Given the description of an element on the screen output the (x, y) to click on. 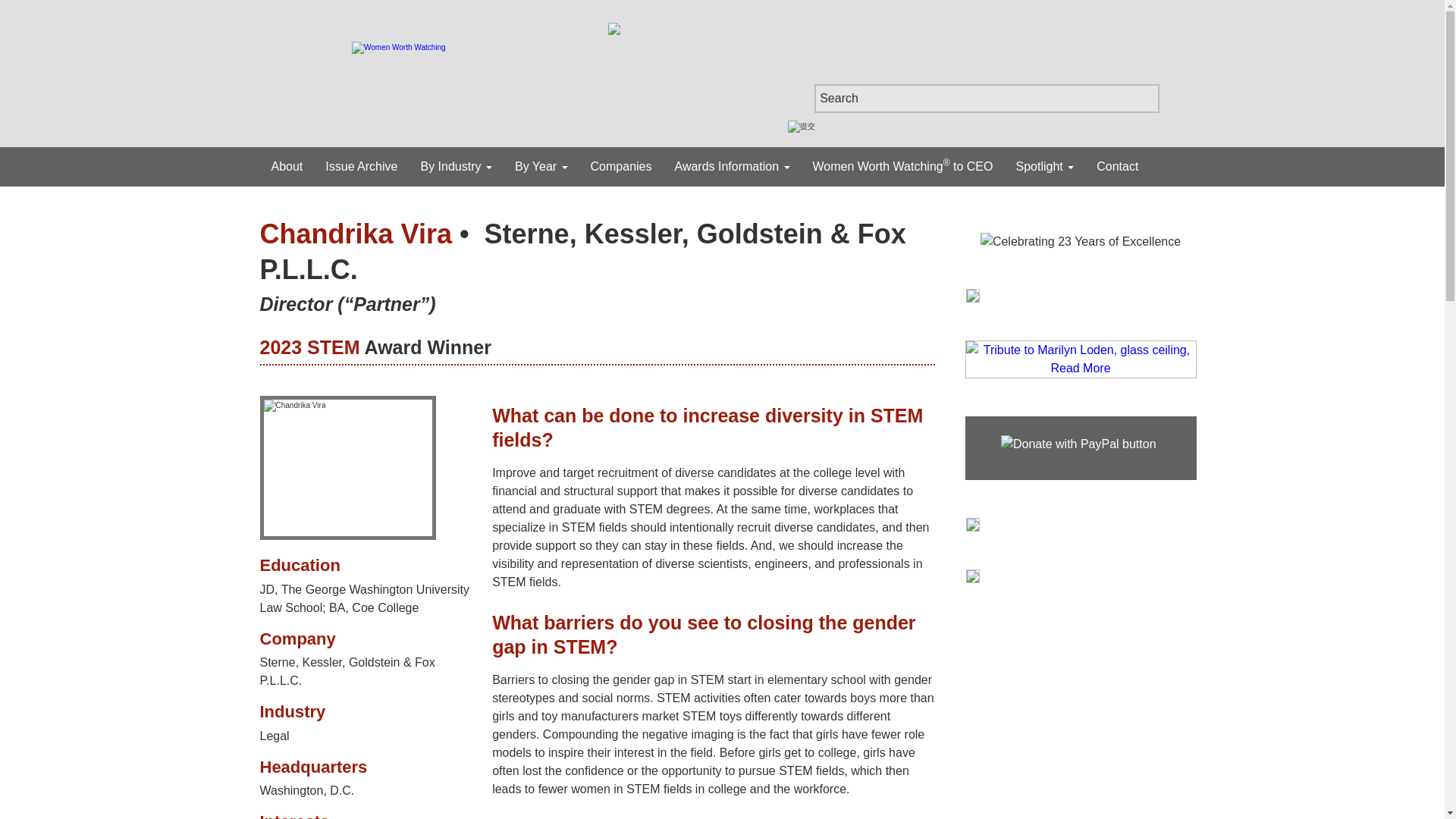
About (286, 166)
By Year (541, 166)
Issue Archive (361, 166)
Issue Archive (361, 166)
By Industry (455, 166)
By Industry (455, 166)
About (286, 166)
Search (985, 98)
Search (985, 98)
